Given the description of an element on the screen output the (x, y) to click on. 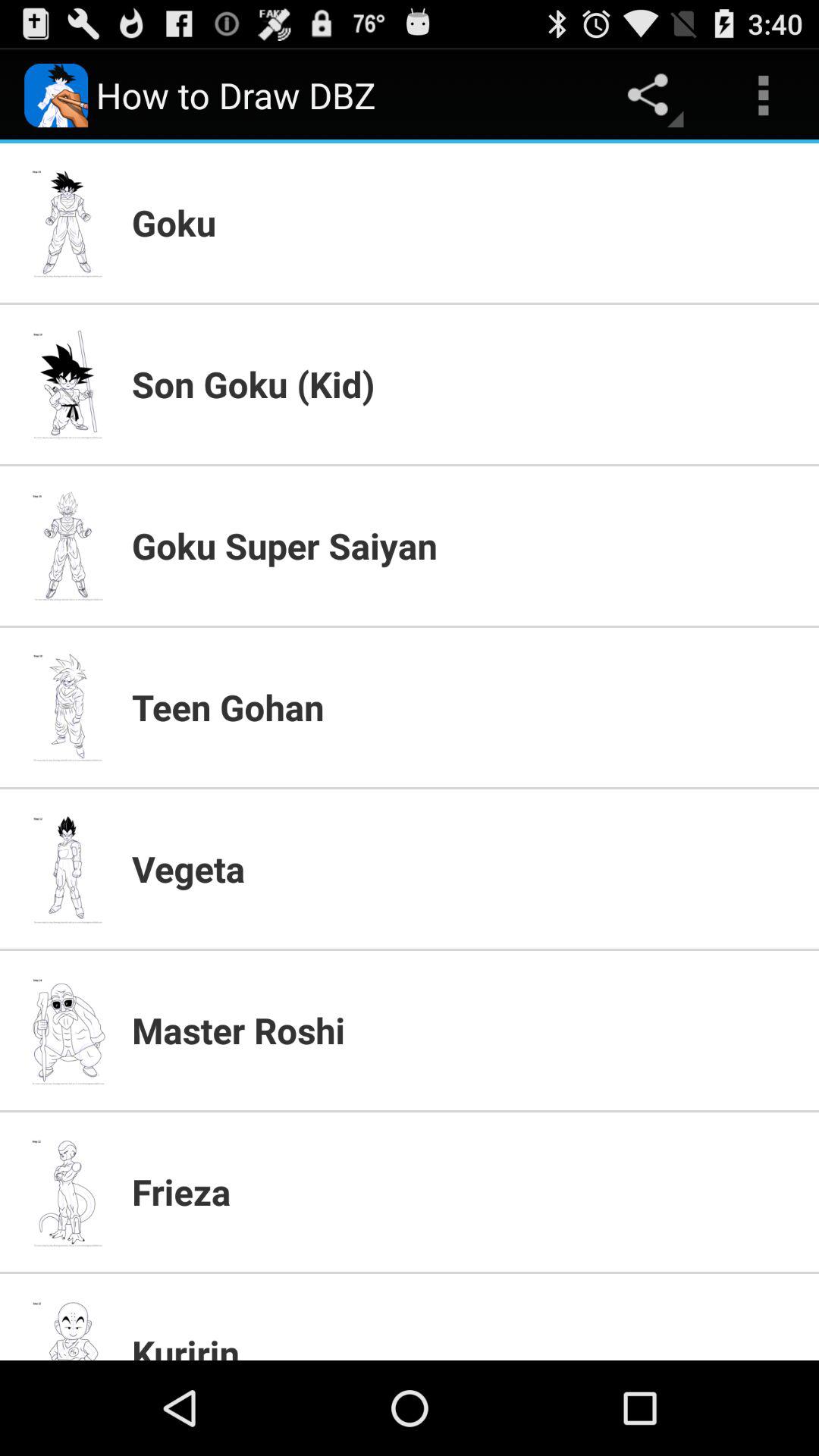
press the goku super saiyan (465, 545)
